Given the description of an element on the screen output the (x, y) to click on. 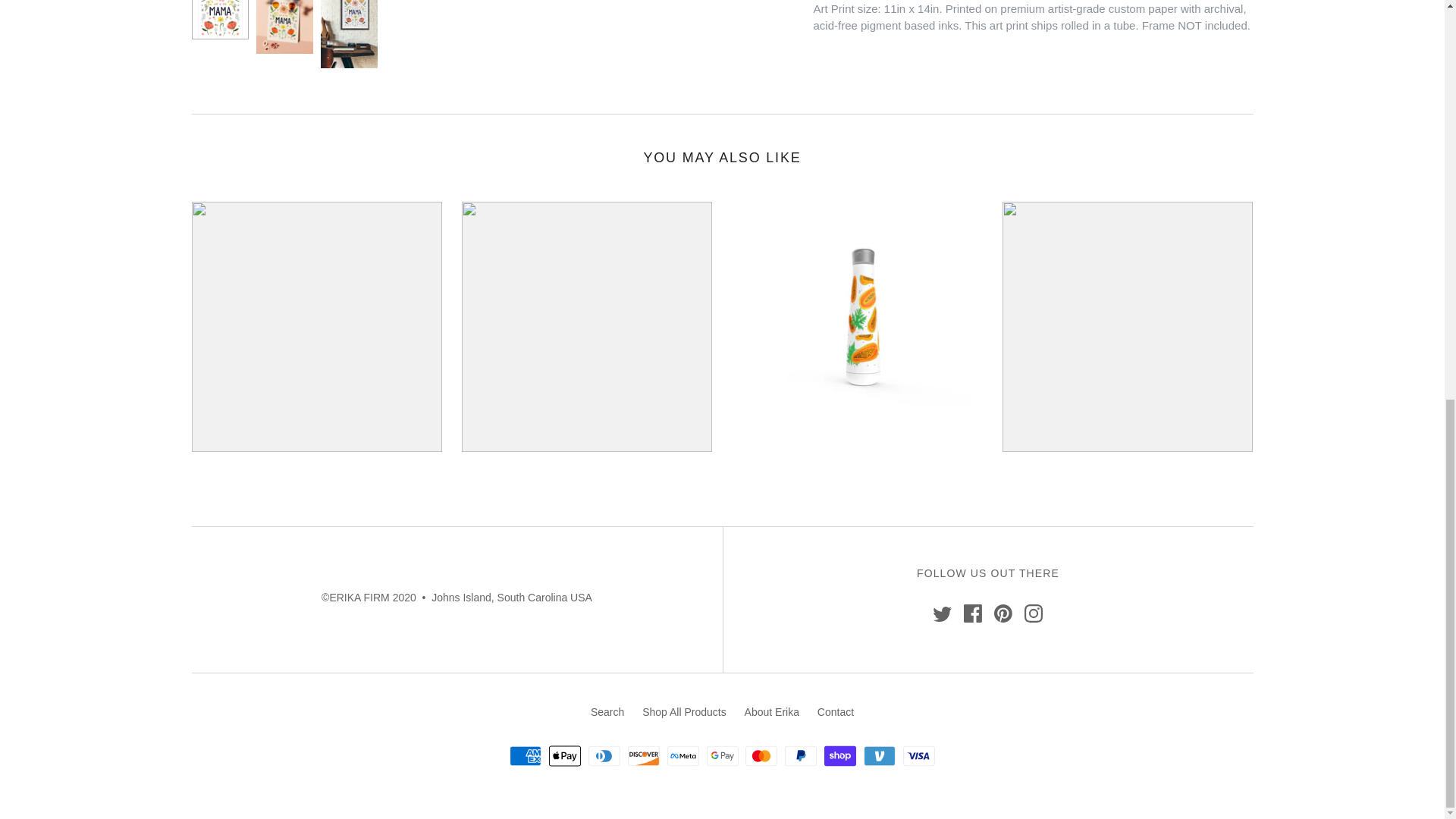
Diners Club (604, 755)
American Express (525, 755)
Discover (643, 755)
Twitter Icon (942, 613)
Pinterest Icon (1002, 613)
Apple Pay (564, 755)
Google Pay (722, 755)
Mastercard (761, 755)
Facebook Icon (972, 613)
Instagram Icon (1033, 613)
